Given the description of an element on the screen output the (x, y) to click on. 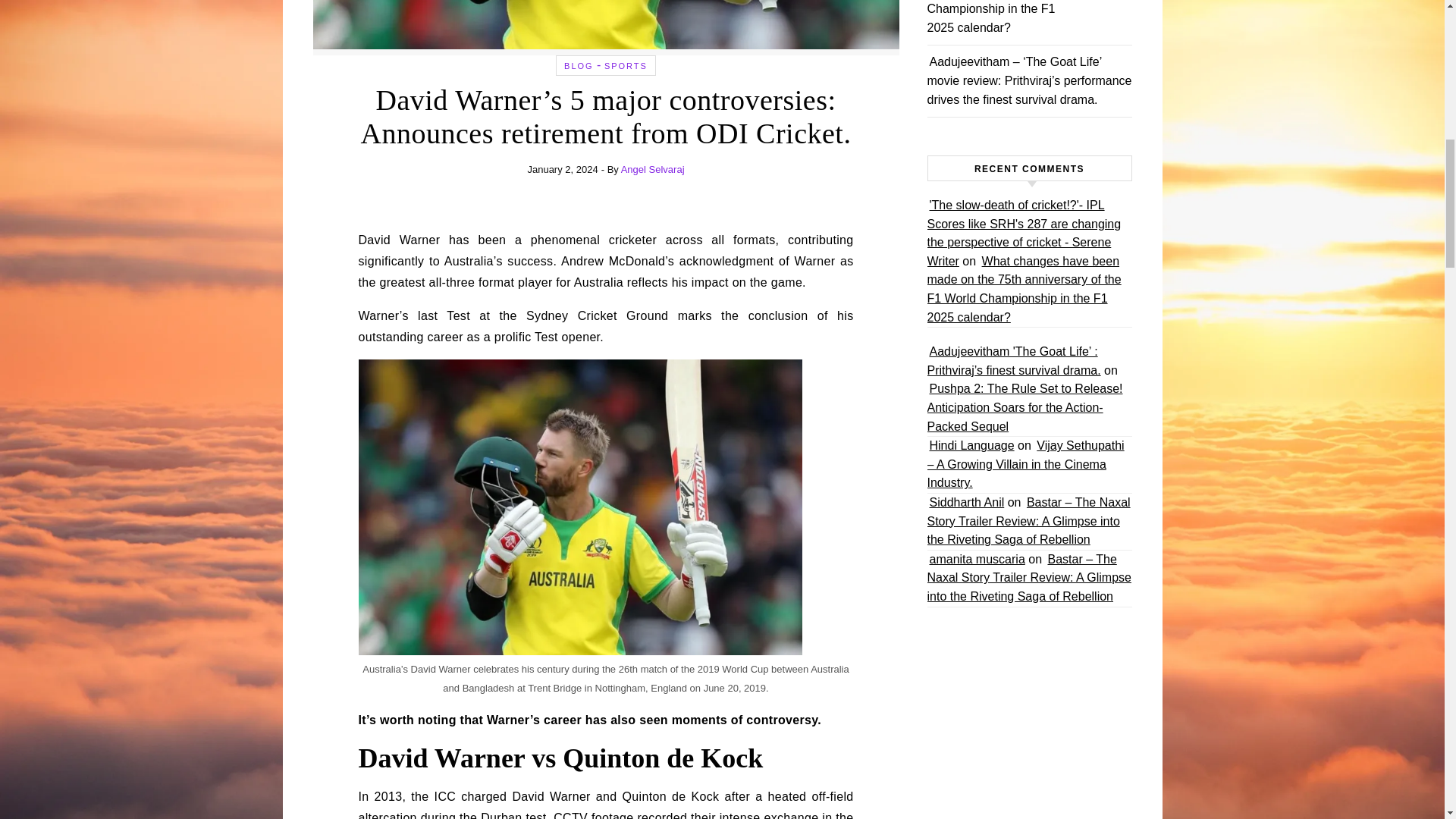
BLOG (579, 65)
Posts by Angel Selvaraj (652, 169)
Angel Selvaraj (652, 169)
SPORTS (625, 65)
